Given the description of an element on the screen output the (x, y) to click on. 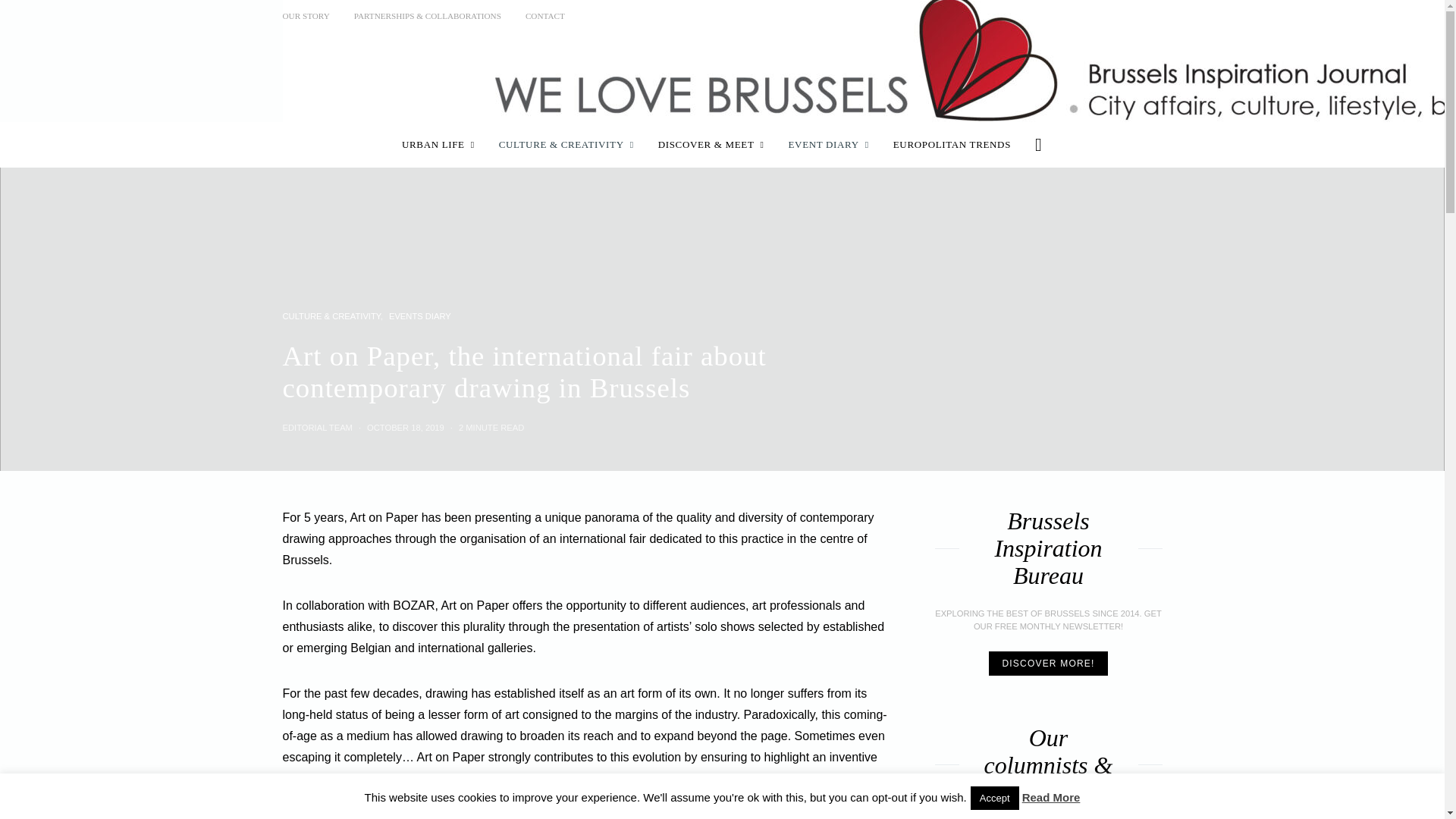
OUR STORY (305, 15)
65K (1088, 15)
10K (1150, 15)
66K (1119, 15)
View all posts by Editorial Team (317, 427)
CONTACT (544, 15)
URBAN LIFE (437, 144)
